Given the description of an element on the screen output the (x, y) to click on. 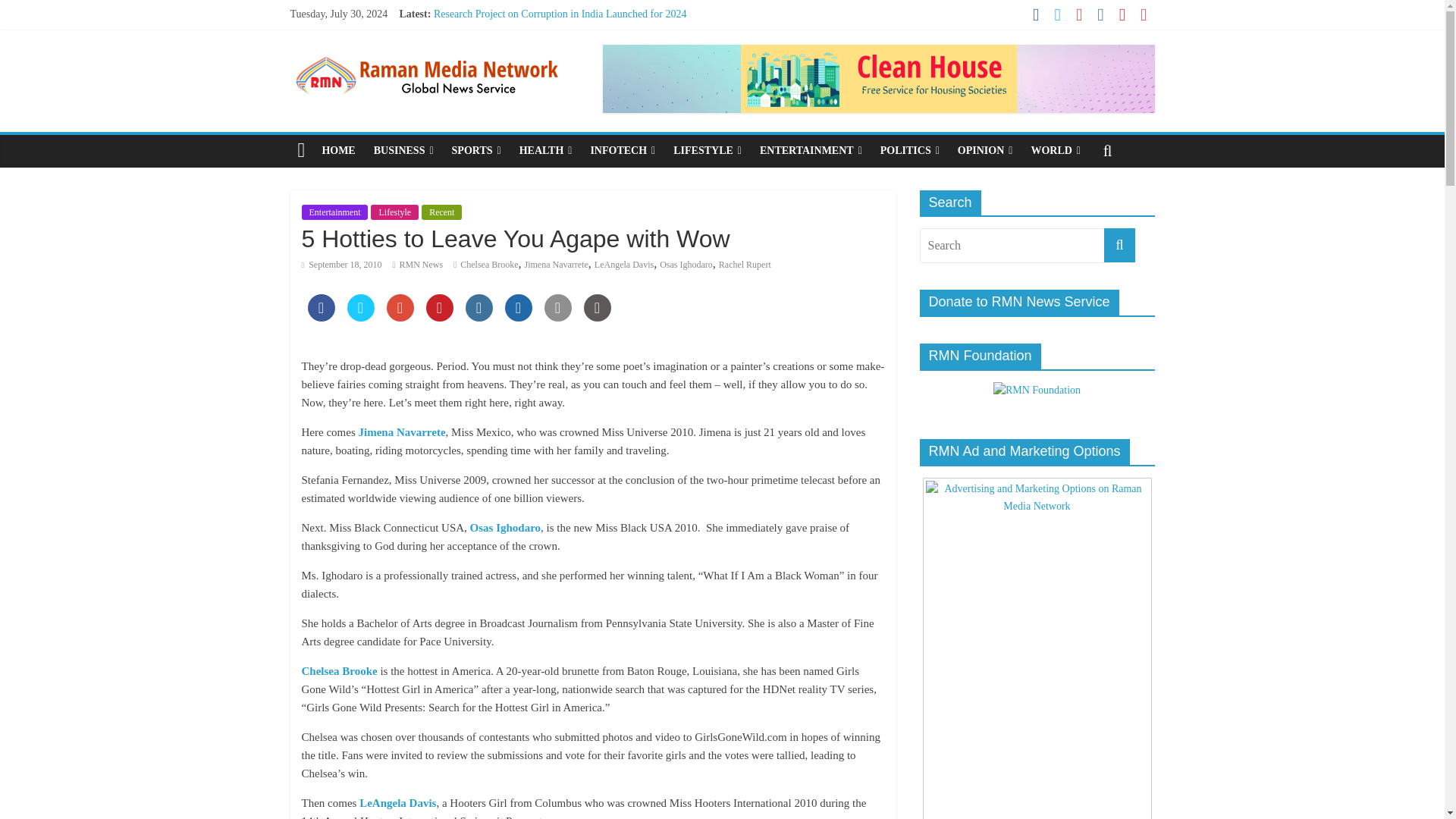
SPORTS (476, 151)
INFOTECH (621, 151)
Volunteers and Interns Invited to Work with RMN Foundation (565, 64)
Volunteers and Interns Invited to Work with RMN Foundation (565, 64)
Research Project on Corruption in India Launched for 2024 (560, 13)
BUSINESS (403, 151)
Research Project on Corruption in India Launched for 2024 (560, 13)
RMN News (421, 264)
ENTERTAINMENT (810, 151)
Raman Media Network (425, 53)
2:05 PM (341, 264)
HEALTH (545, 151)
